Given the description of an element on the screen output the (x, y) to click on. 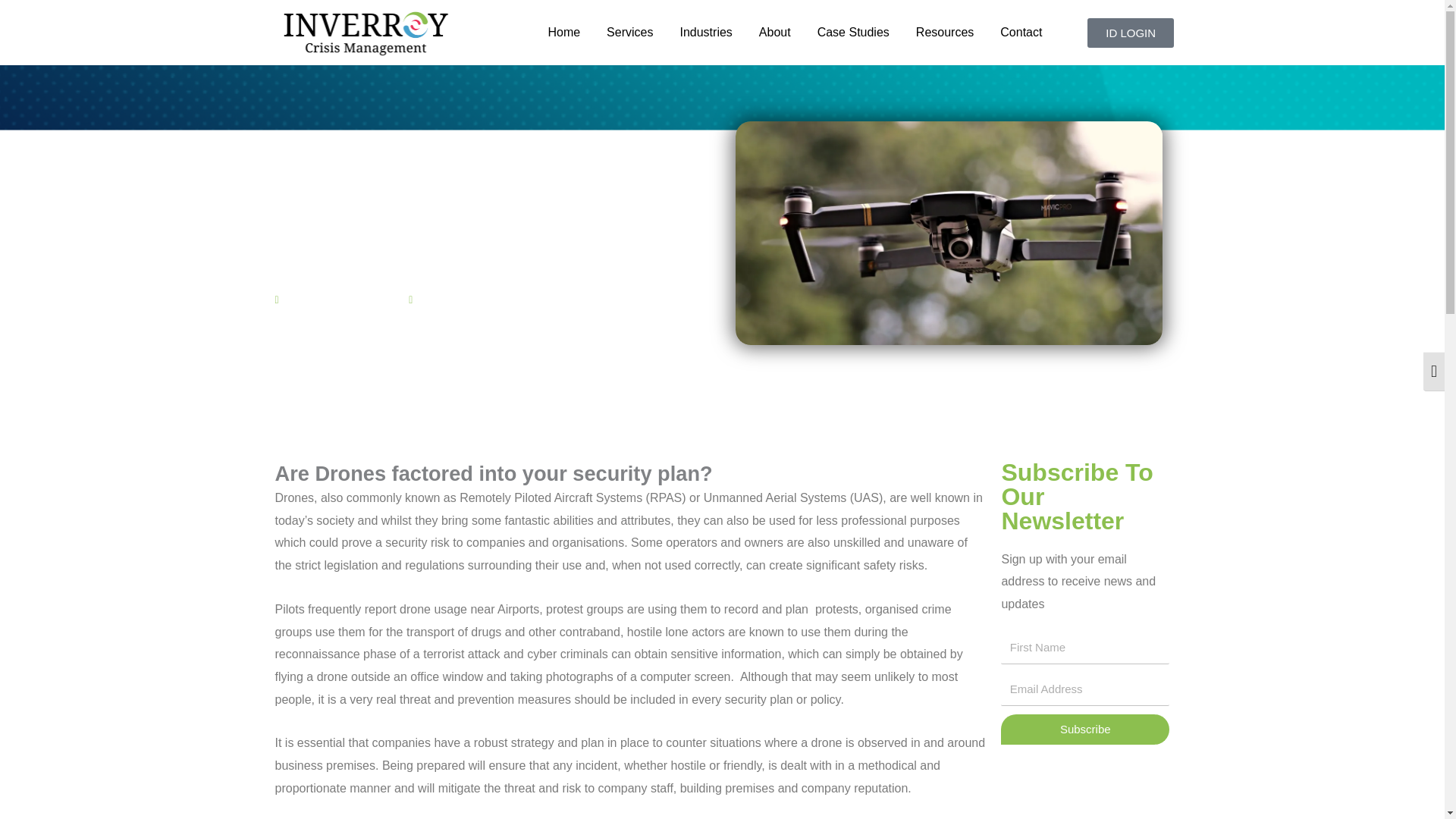
Case Studies (852, 32)
